Given the description of an element on the screen output the (x, y) to click on. 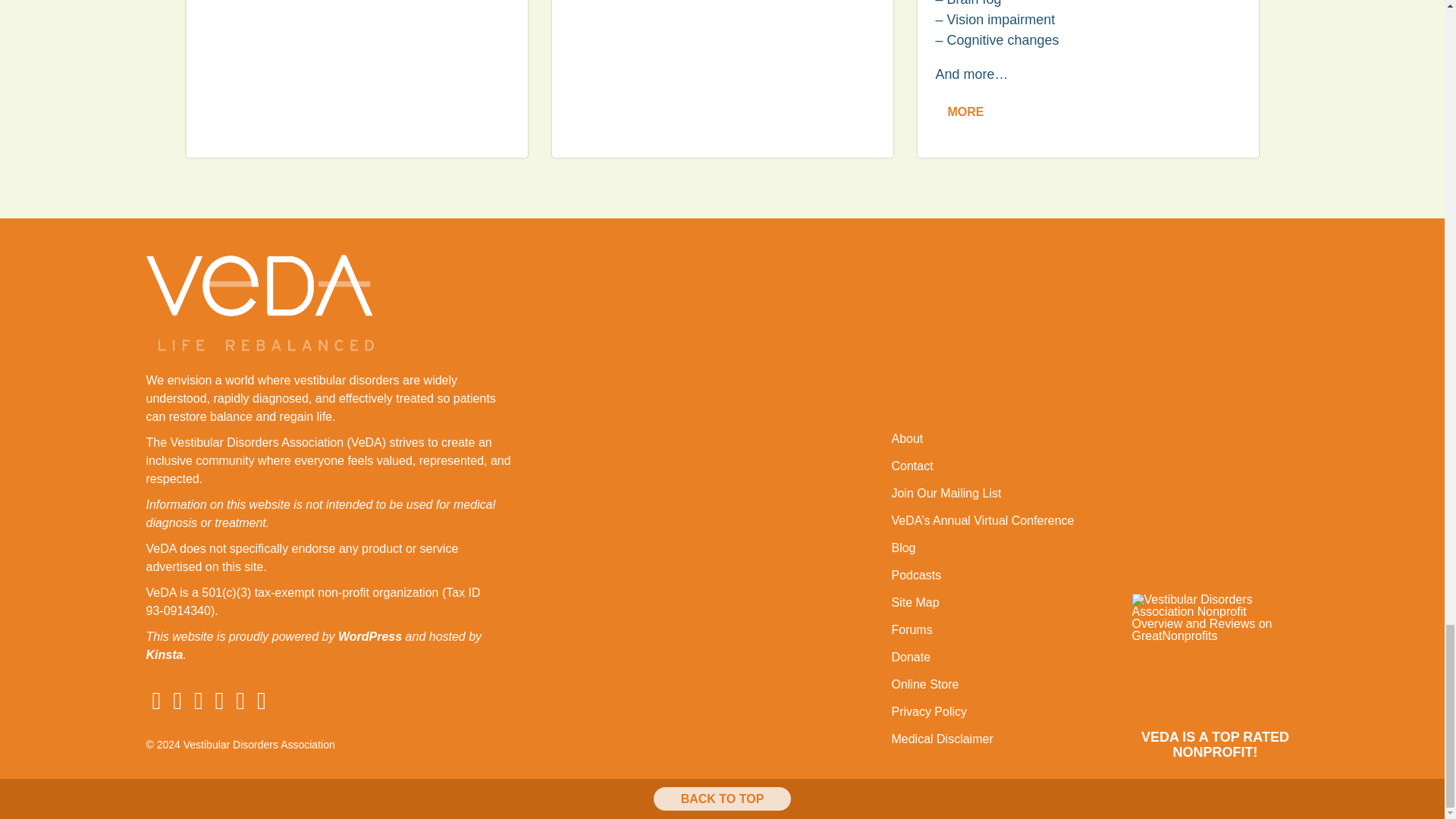
Read more about Vision Challenges with Vestibular Disorders (722, 79)
